Given the description of an element on the screen output the (x, y) to click on. 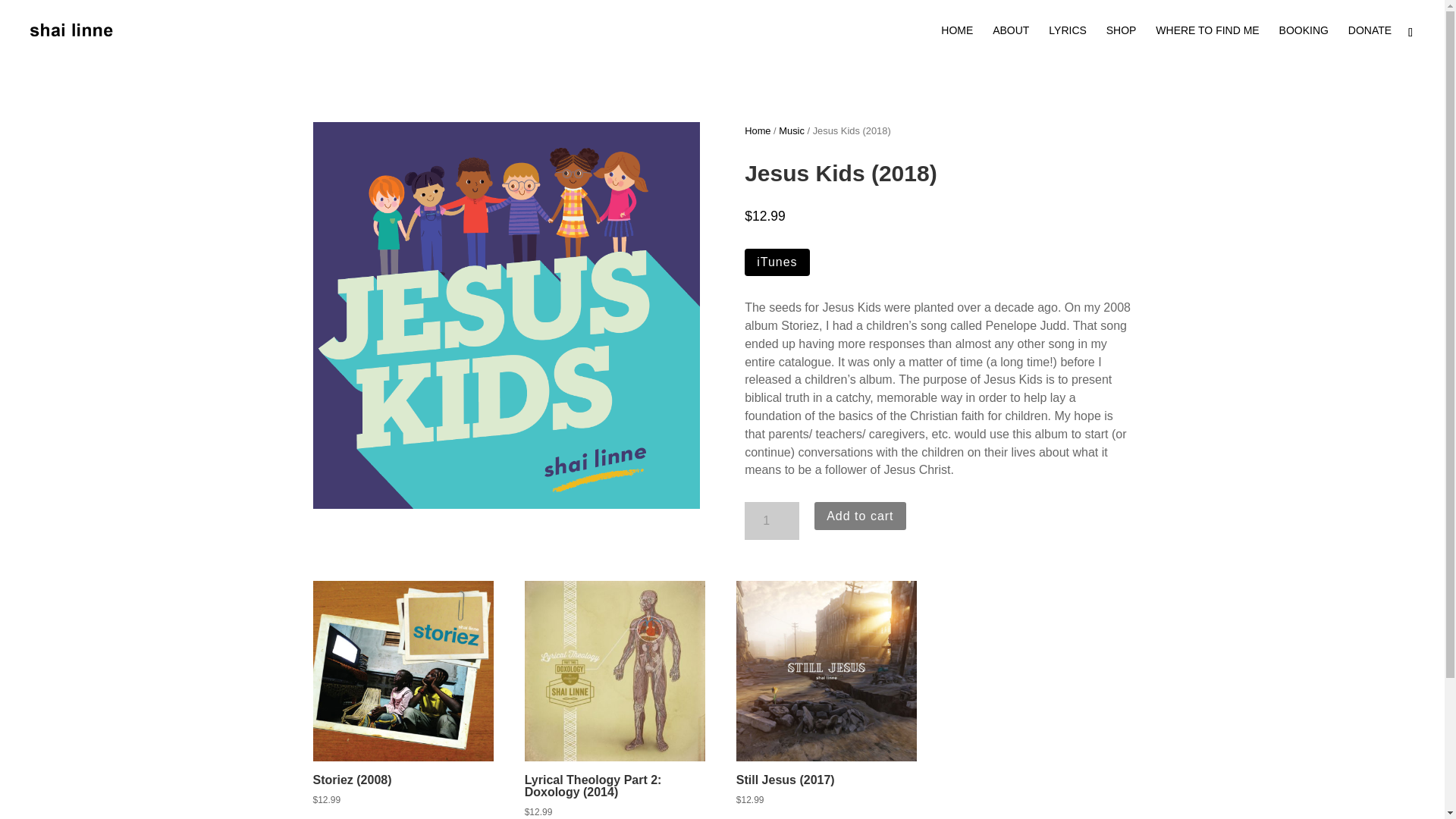
Add to cart (859, 515)
BOOKING (1303, 42)
1 (771, 520)
ABOUT (1010, 42)
Home (757, 130)
LYRICS (1067, 42)
iTunes (776, 262)
WHERE TO FIND ME (1207, 42)
HOME (956, 42)
Music (791, 130)
DONATE (1369, 42)
